Given the description of an element on the screen output the (x, y) to click on. 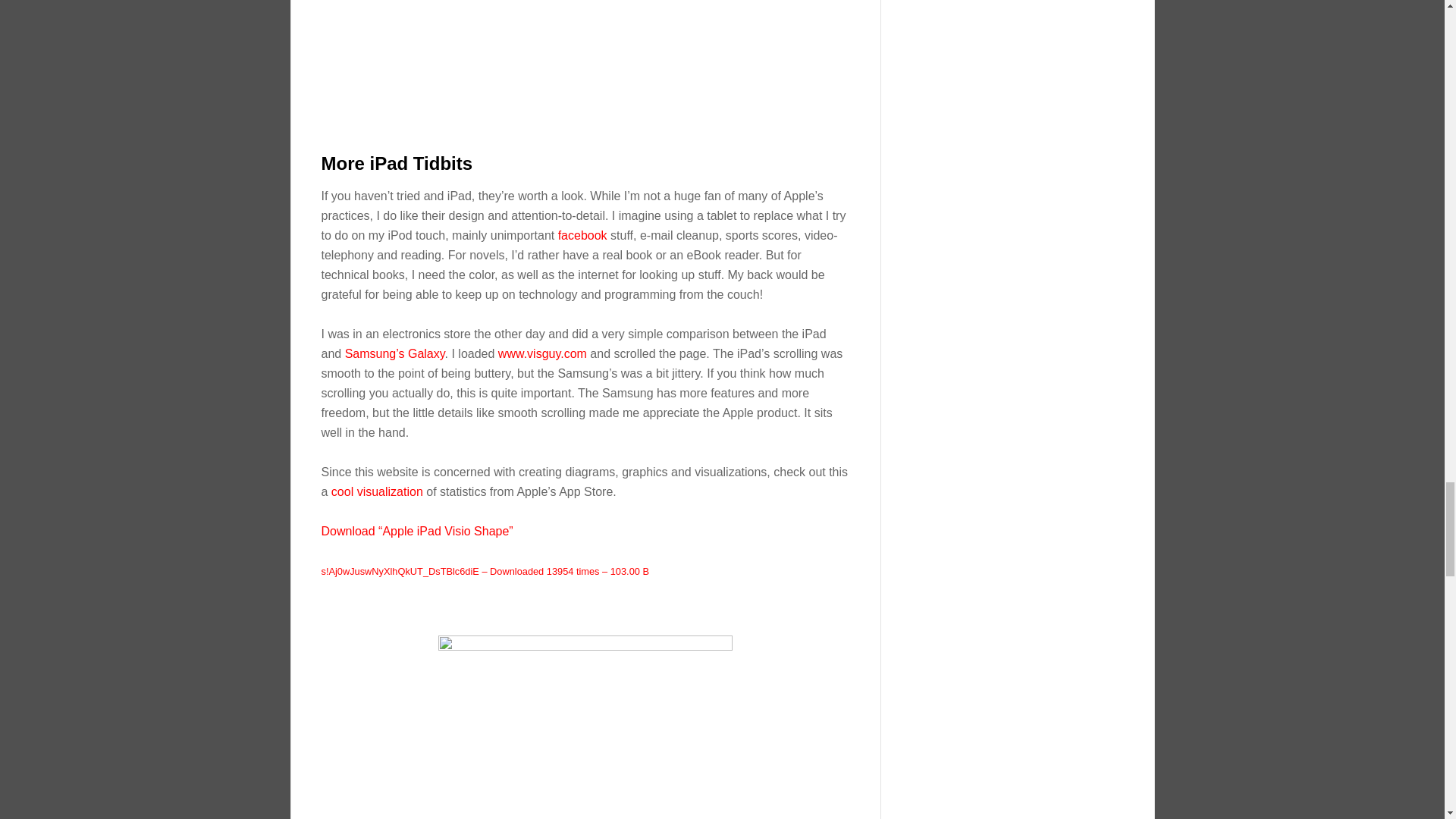
ipad-visio-shape-with-smarts (585, 66)
